Given the description of an element on the screen output the (x, y) to click on. 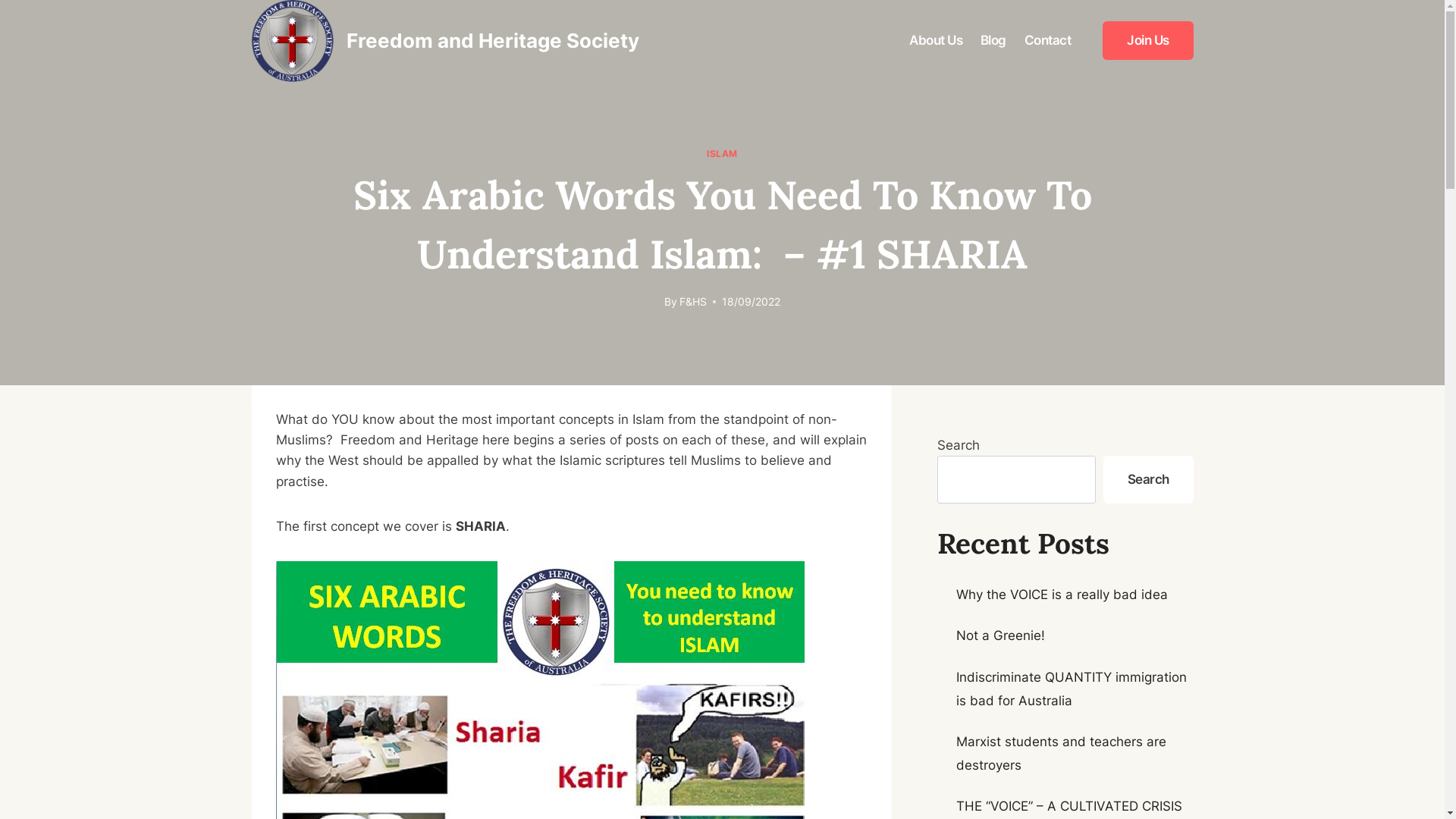
Join Us Element type: text (1147, 40)
Contact Element type: text (1047, 40)
Freedom and Heritage Society Element type: text (445, 40)
Not a Greenie! Element type: text (1000, 635)
About Us Element type: text (935, 40)
ISLAM Element type: text (721, 153)
Why the VOICE is a really bad idea Element type: text (1061, 594)
Search Element type: text (1147, 479)
Indiscriminate QUANTITY immigration is bad for Australia Element type: text (1071, 688)
Marxist students and teachers are destroyers Element type: text (1061, 753)
F&HS Element type: text (692, 301)
Blog Element type: text (993, 40)
